Given the description of an element on the screen output the (x, y) to click on. 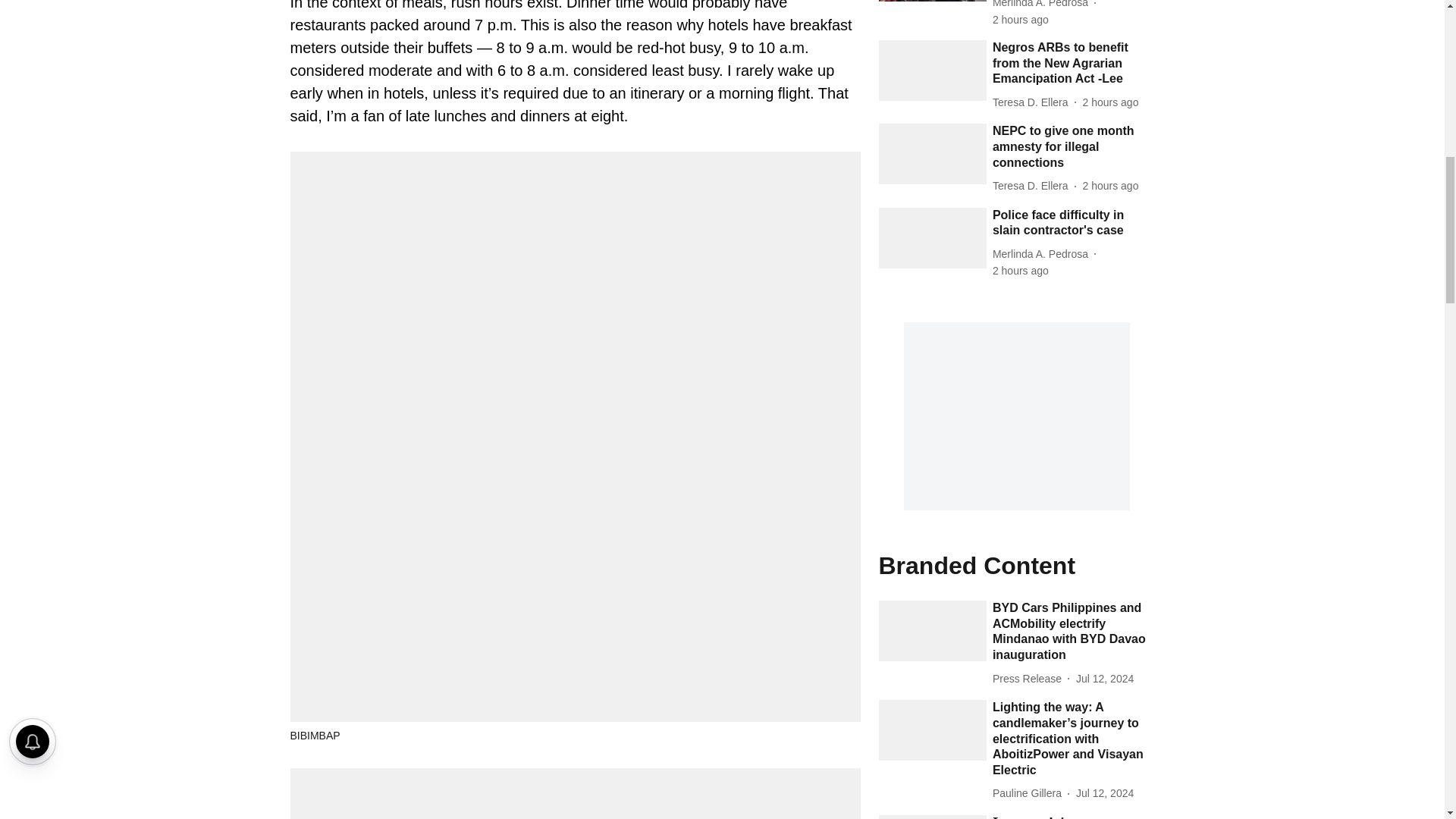
2024-07-19 01:25 (1020, 270)
2024-07-12 10:22 (1104, 678)
2024-07-19 01:28 (1110, 102)
2024-07-12 07:00 (1104, 793)
2024-07-19 01:32 (1020, 19)
2024-07-19 01:27 (1110, 186)
